Given the description of an element on the screen output the (x, y) to click on. 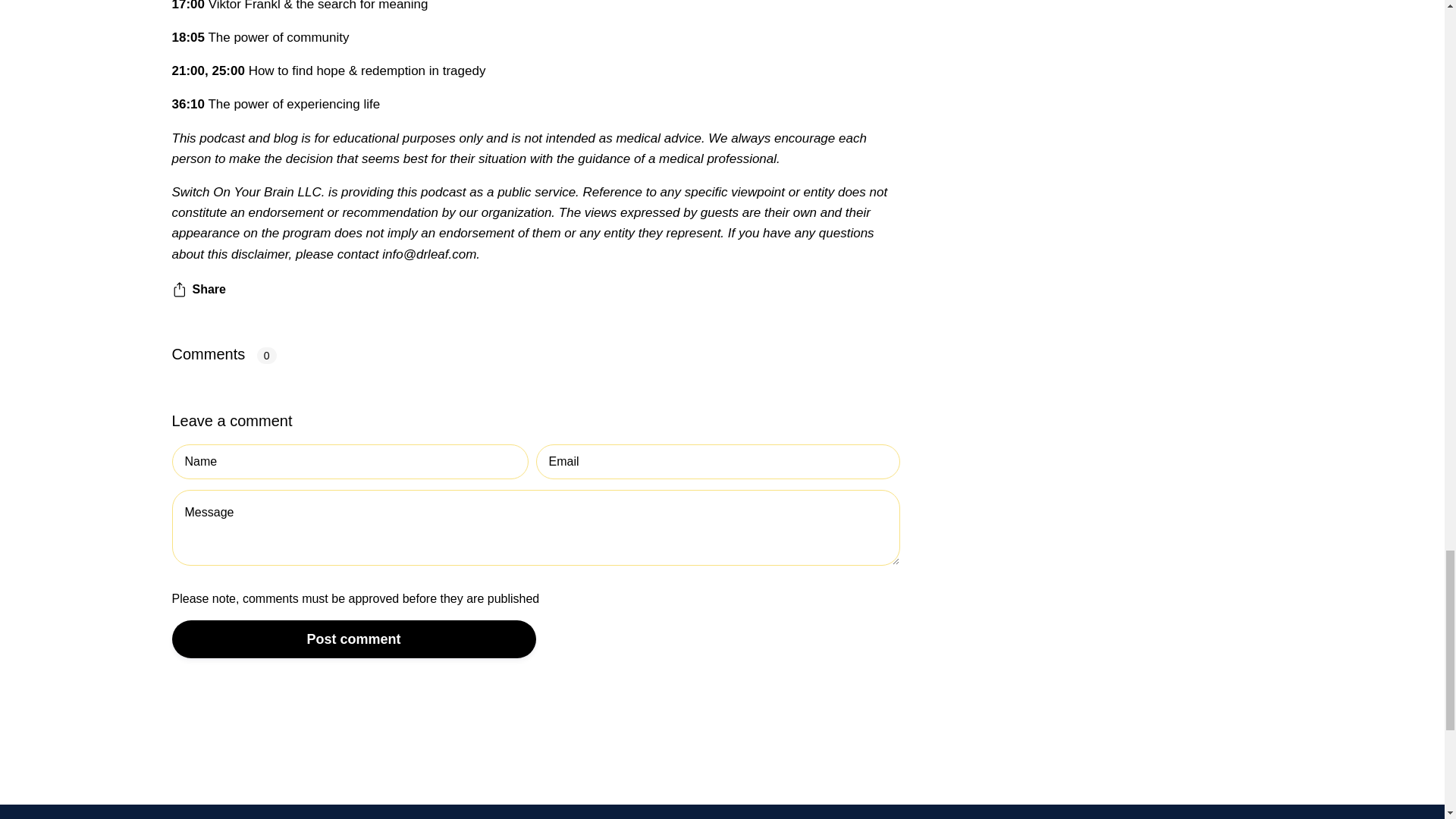
Post comment (353, 638)
